Given the description of an element on the screen output the (x, y) to click on. 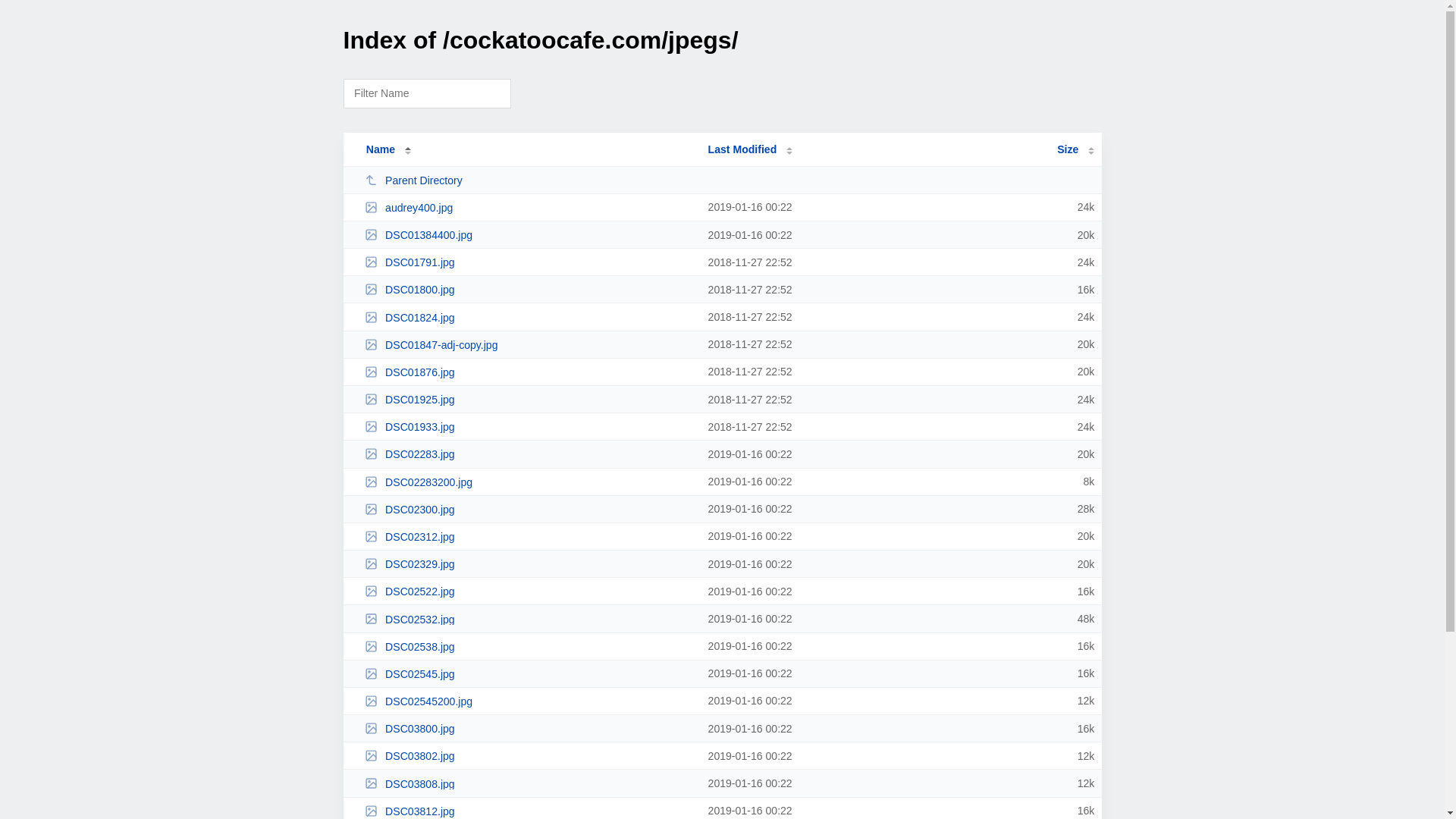
DSC02283200.jpg Element type: text (529, 481)
DSC01384400.jpg Element type: text (529, 234)
DSC02312.jpg Element type: text (529, 536)
Parent Directory Element type: text (529, 179)
DSC01791.jpg Element type: text (529, 261)
DSC01933.jpg Element type: text (529, 426)
DSC02283.jpg Element type: text (529, 453)
DSC03800.jpg Element type: text (529, 727)
DSC03812.jpg Element type: text (529, 810)
DSC02300.jpg Element type: text (529, 508)
DSC02329.jpg Element type: text (529, 563)
DSC01800.jpg Element type: text (529, 288)
DSC01824.jpg Element type: text (529, 316)
DSC03808.jpg Element type: text (529, 783)
DSC02532.jpg Element type: text (529, 618)
Last Modified Element type: text (750, 149)
audrey400.jpg Element type: text (529, 206)
DSC02538.jpg Element type: text (529, 646)
DSC02545.jpg Element type: text (529, 673)
DSC03802.jpg Element type: text (529, 755)
DSC01847-adj-copy.jpg Element type: text (529, 344)
Name Element type: text (380, 149)
DSC02545200.jpg Element type: text (529, 700)
DSC01876.jpg Element type: text (529, 371)
DSC01925.jpg Element type: text (529, 398)
Size Element type: text (1075, 149)
DSC02522.jpg Element type: text (529, 590)
